Given the description of an element on the screen output the (x, y) to click on. 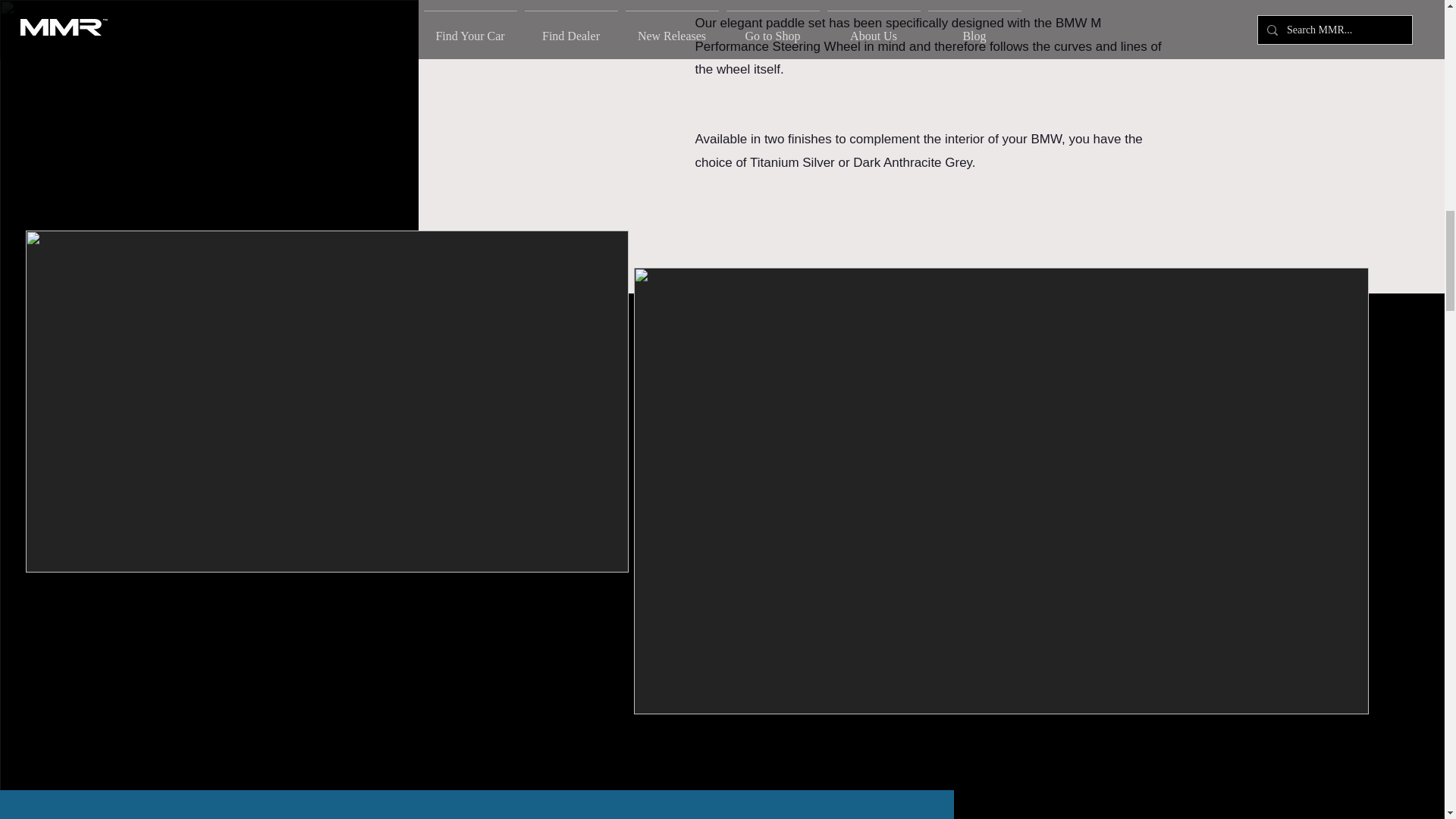
Fitting Video Icon.png (272, 11)
